Given the description of an element on the screen output the (x, y) to click on. 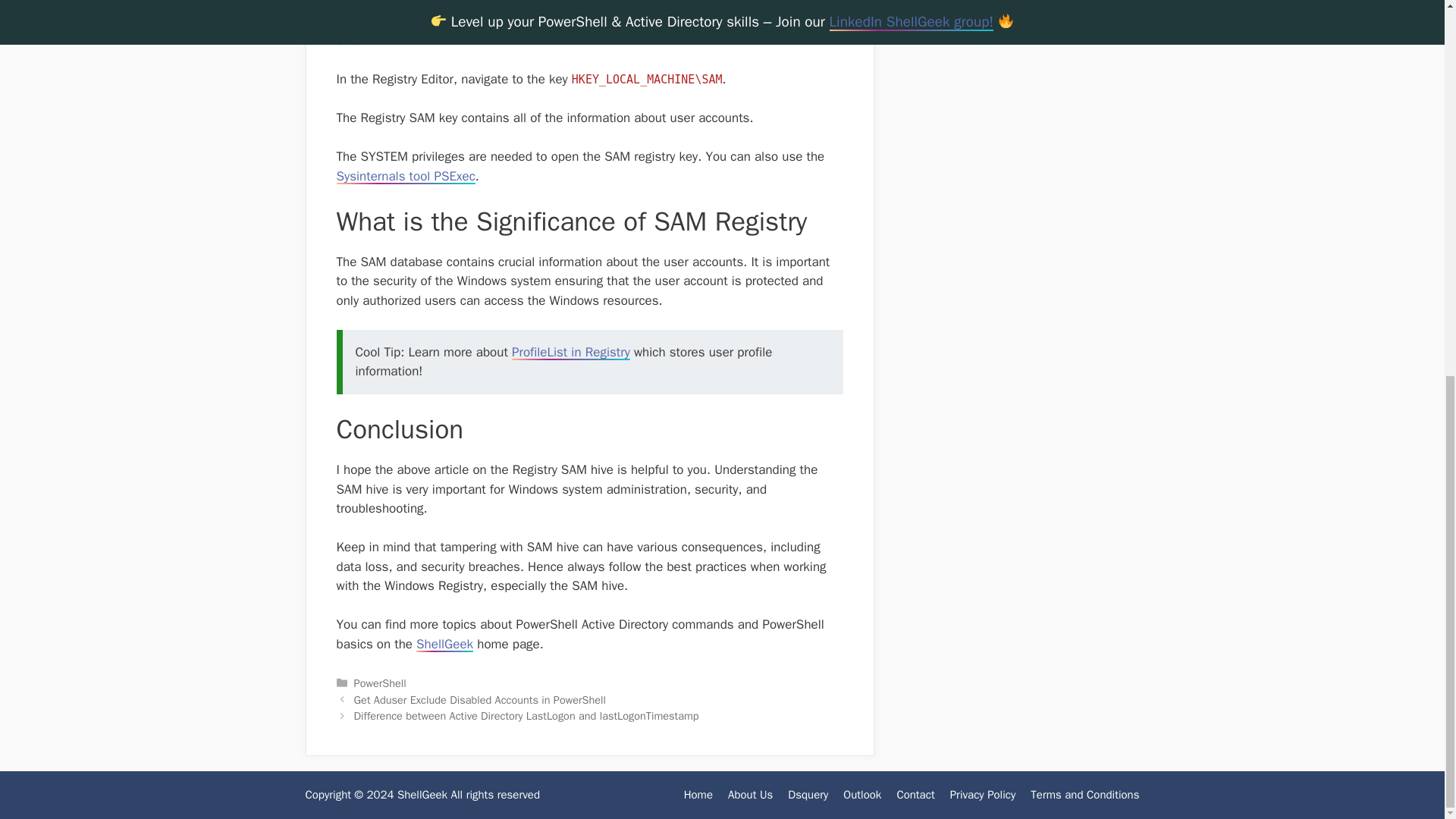
Terms and Conditions (1084, 794)
Get Aduser Exclude Disabled Accounts in PowerShell (479, 699)
Privacy Policy (983, 794)
Sysinternals tool PSExec (406, 176)
ShellGeek (444, 643)
ProfileList in Registry (571, 351)
Home (698, 794)
Outlook (861, 794)
About Us (750, 794)
